Given the description of an element on the screen output the (x, y) to click on. 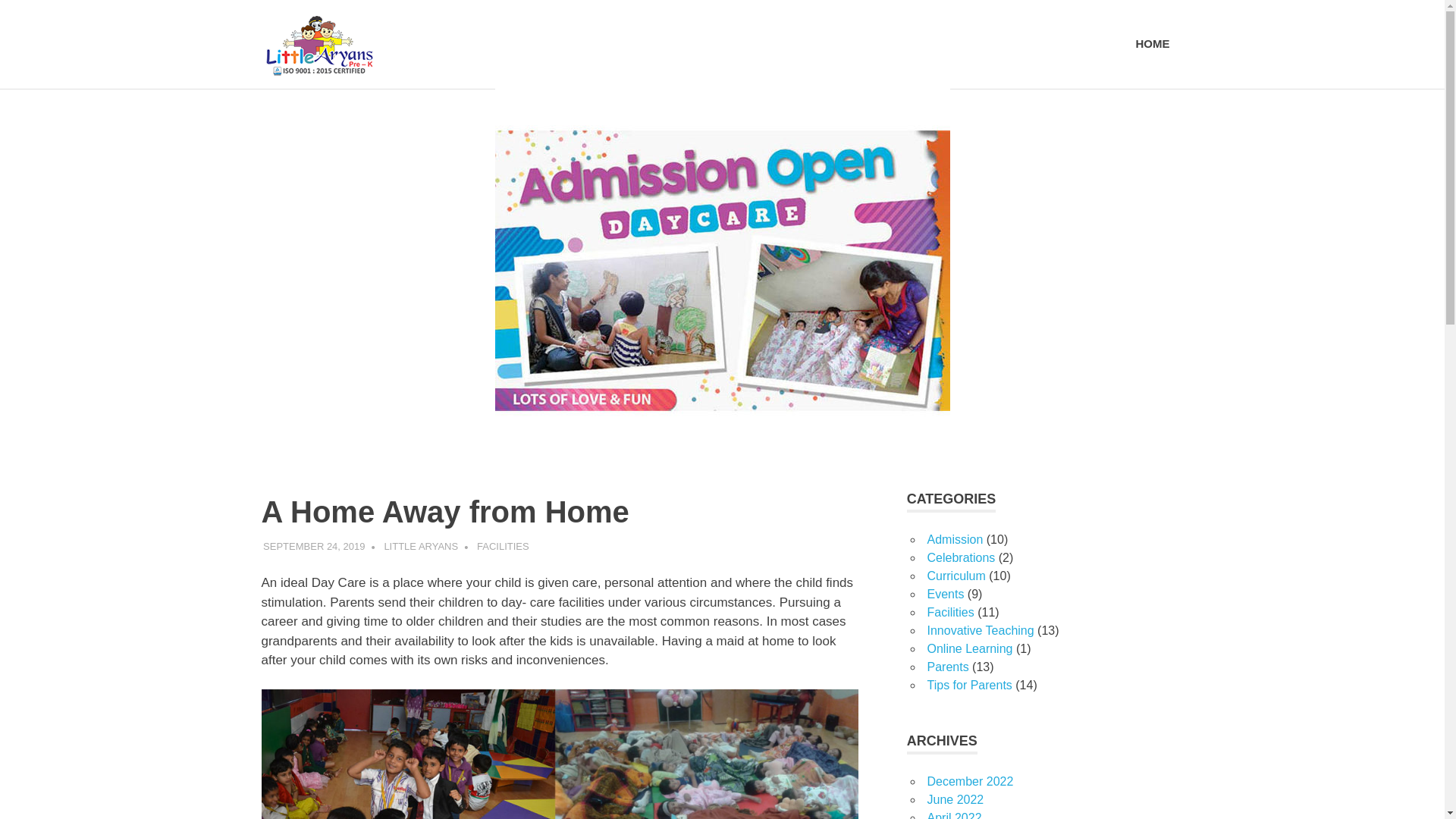
FACILITIES (503, 546)
Admission (954, 539)
Innovative Teaching (979, 630)
Events (944, 594)
View all posts by Little Aryans (421, 546)
Curriculum (955, 575)
April 2022 (953, 815)
December 2022 (969, 780)
June 2022 (955, 799)
Facilities (950, 612)
10:09 am (314, 546)
SEPTEMBER 24, 2019 (314, 546)
Online Learning (968, 648)
Celebrations (960, 557)
LITTLE ARYANS (421, 546)
